Given the description of an element on the screen output the (x, y) to click on. 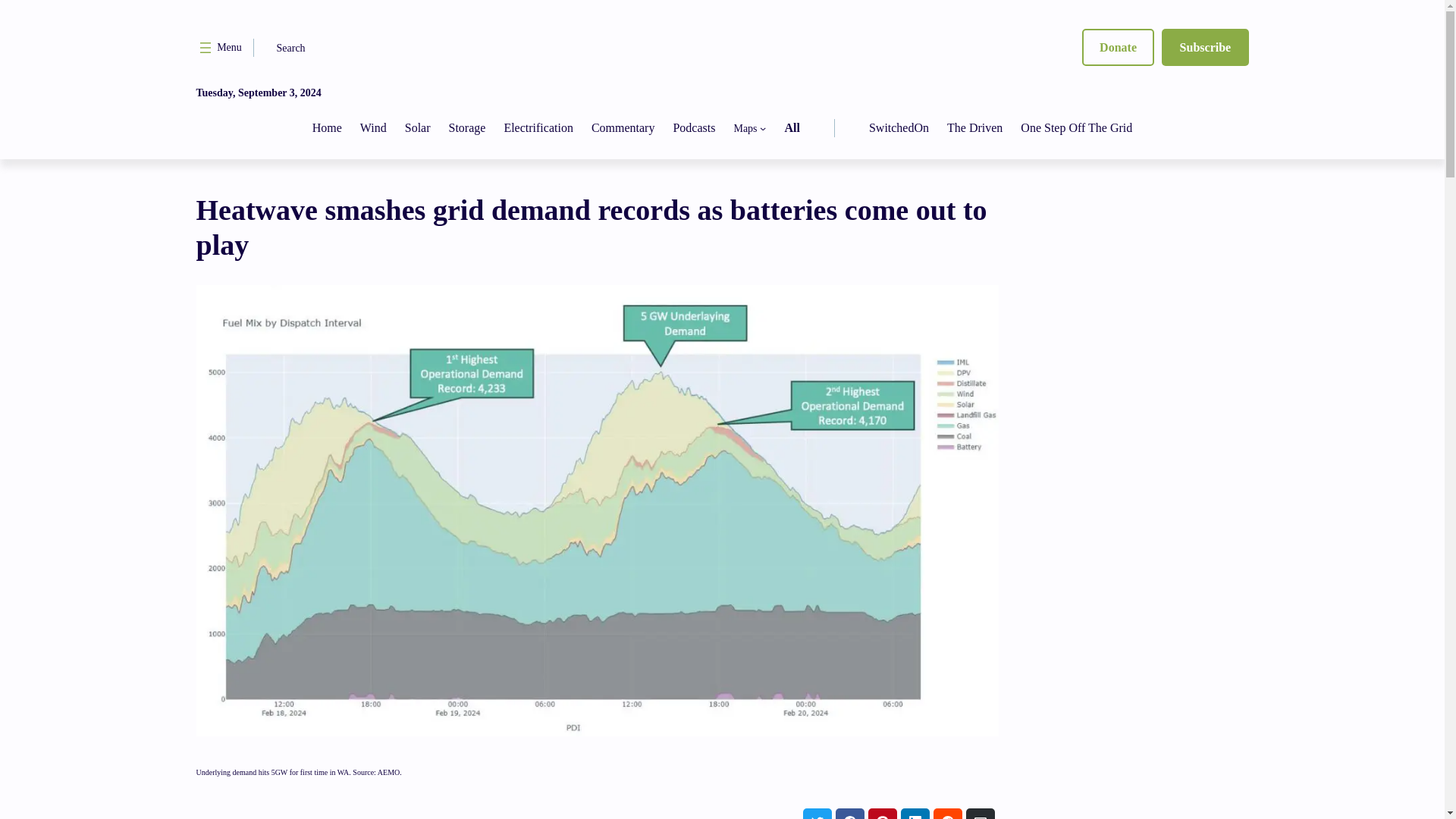
Share on Pinterest (881, 813)
Share on LinkedIn (915, 813)
Share on Reddit (946, 813)
Share via Email (980, 813)
Share on Facebook (849, 813)
Share on Twitter (816, 813)
